Given the description of an element on the screen output the (x, y) to click on. 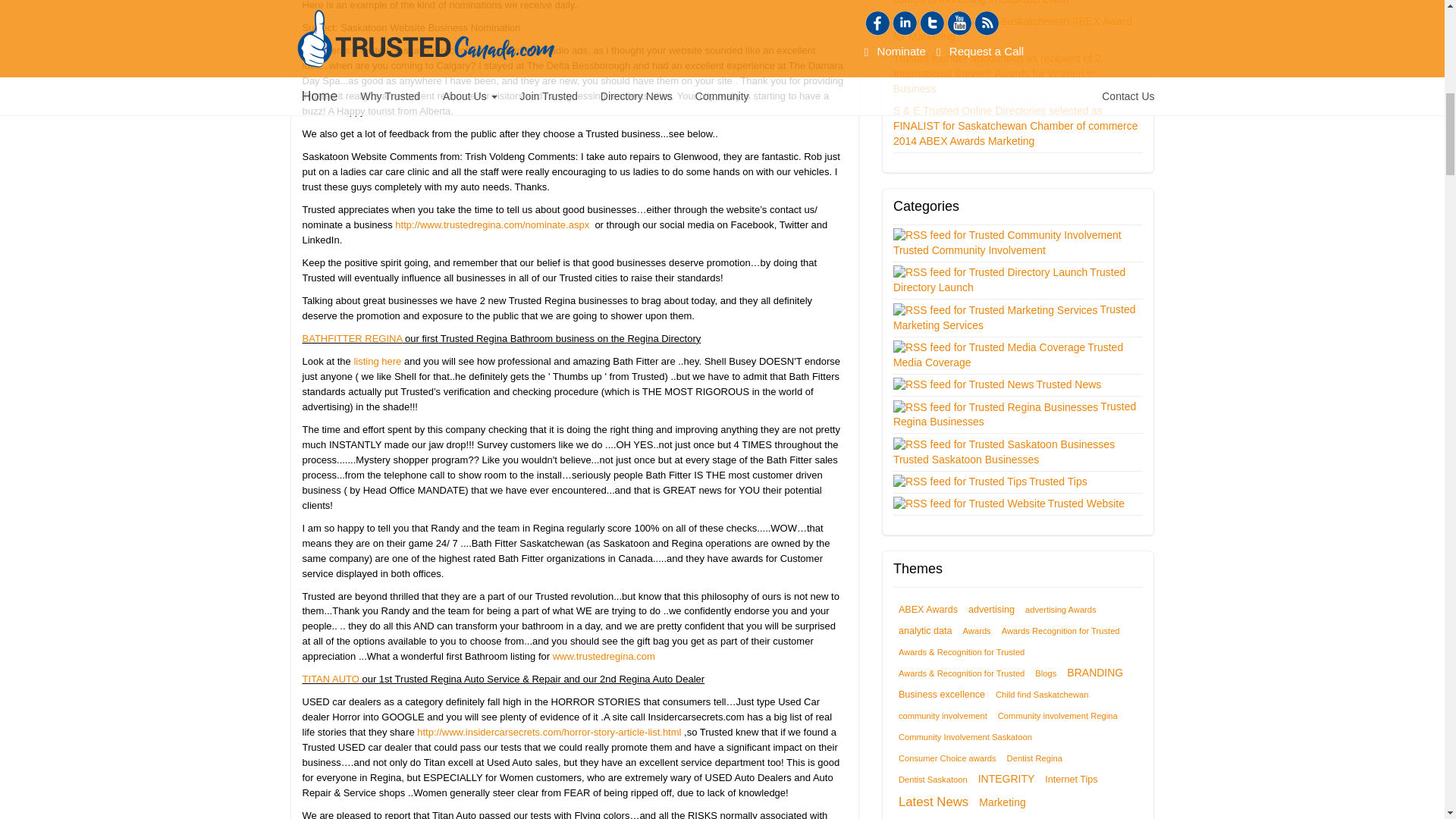
TITAN AUTO (329, 678)
BATHFITTER REGINA (351, 337)
listing here (378, 360)
Category: Trusted Community Involvement (970, 250)
Category: Trusted Media Coverage (1007, 354)
www.trustedregina.com (604, 655)
Category: Trusted Marketing Services (1014, 316)
Category: Trusted Directory Launch (1009, 279)
